Given the description of an element on the screen output the (x, y) to click on. 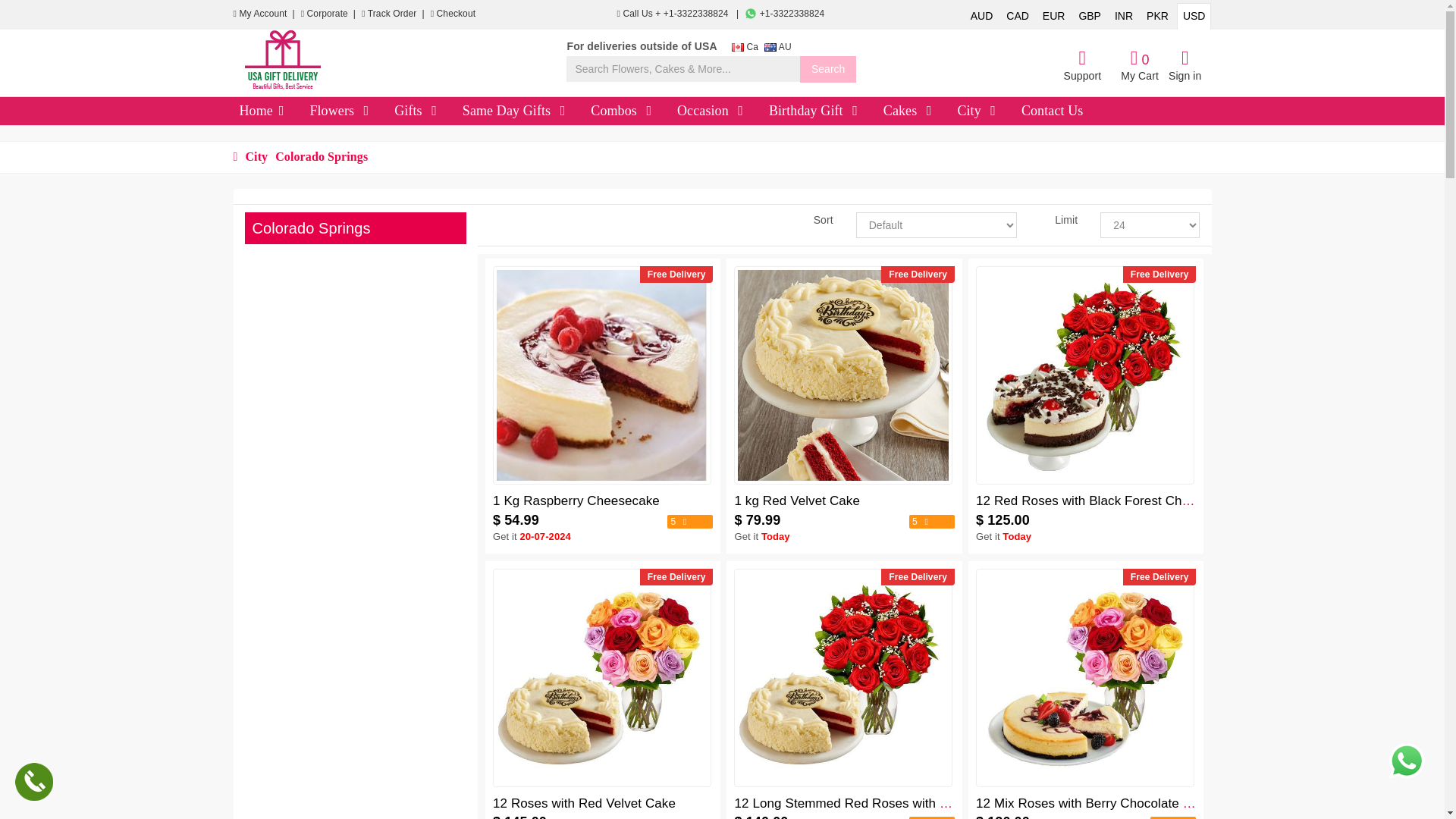
Occasion (740, 110)
City (992, 110)
Birthday Gift (854, 110)
Cakes (928, 110)
Home (281, 110)
Flowers (366, 110)
My account (263, 13)
Customer Support (1081, 66)
Combos (649, 110)
Gifts (433, 110)
My account (1185, 66)
Same Day Gifts (563, 110)
Search (827, 69)
Shopping cart (1139, 66)
